Given the description of an element on the screen output the (x, y) to click on. 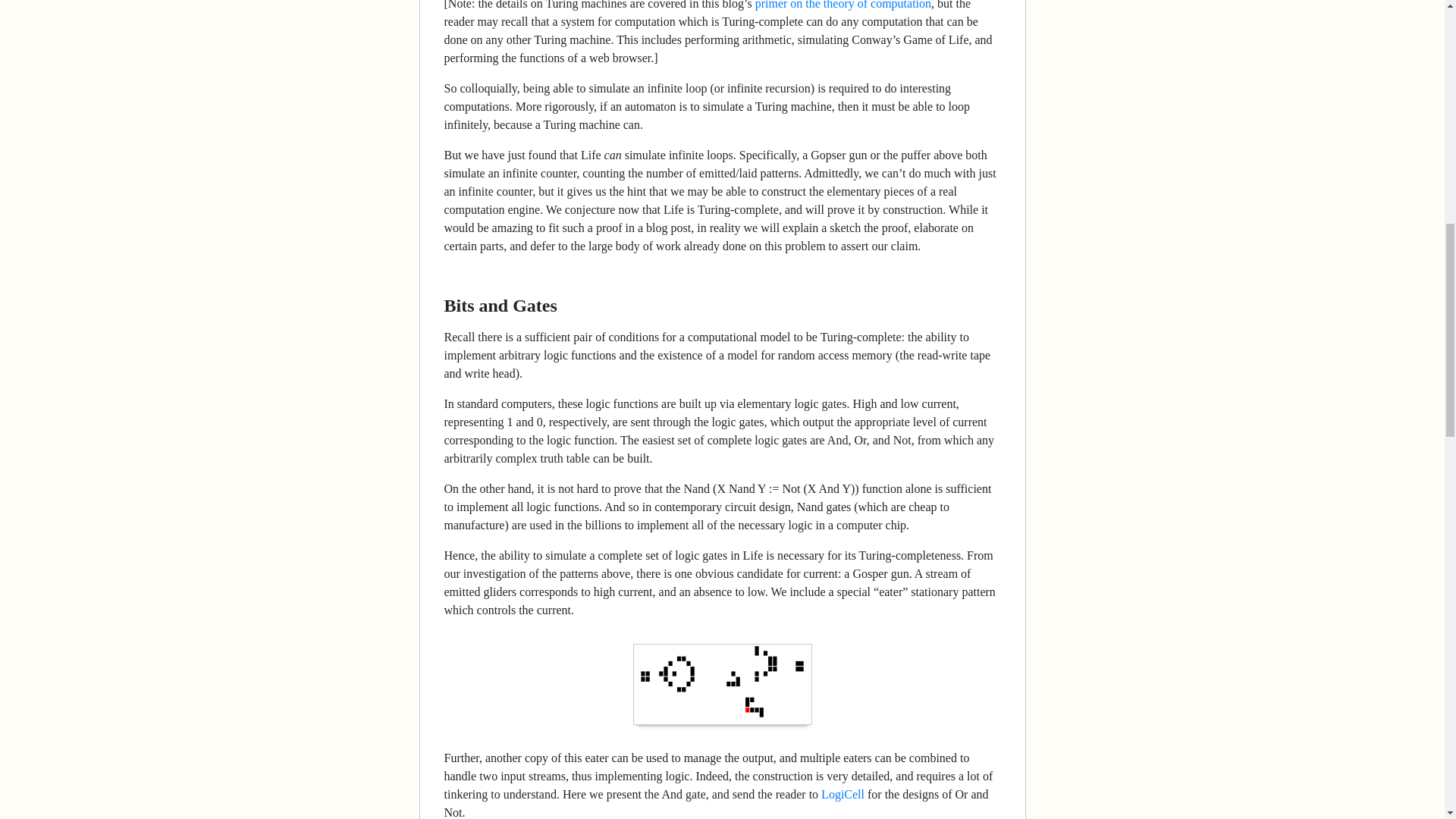
primer on the theory of computation (843, 4)
LogiCell (842, 793)
